Given the description of an element on the screen output the (x, y) to click on. 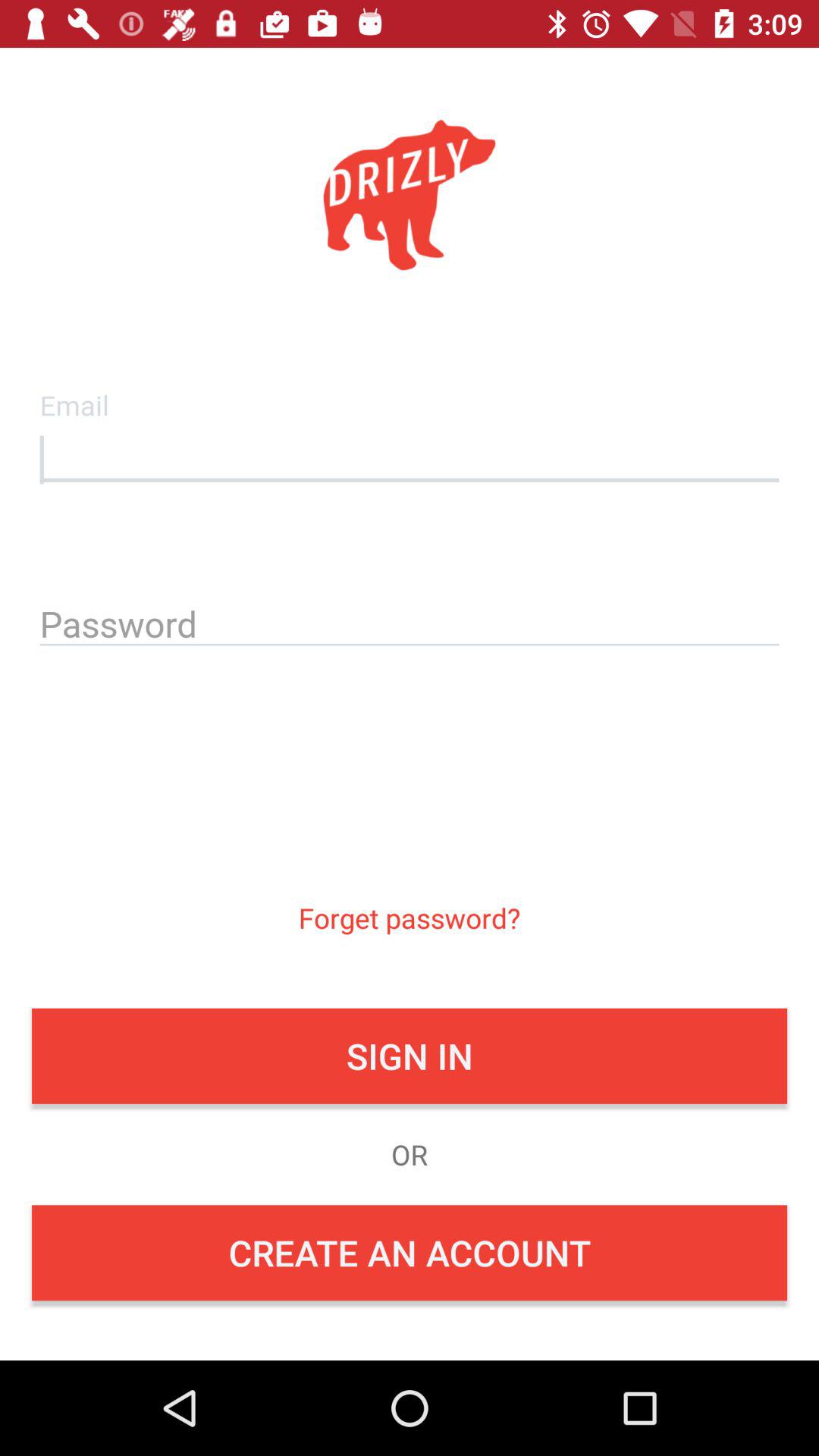
enter password (409, 621)
